Given the description of an element on the screen output the (x, y) to click on. 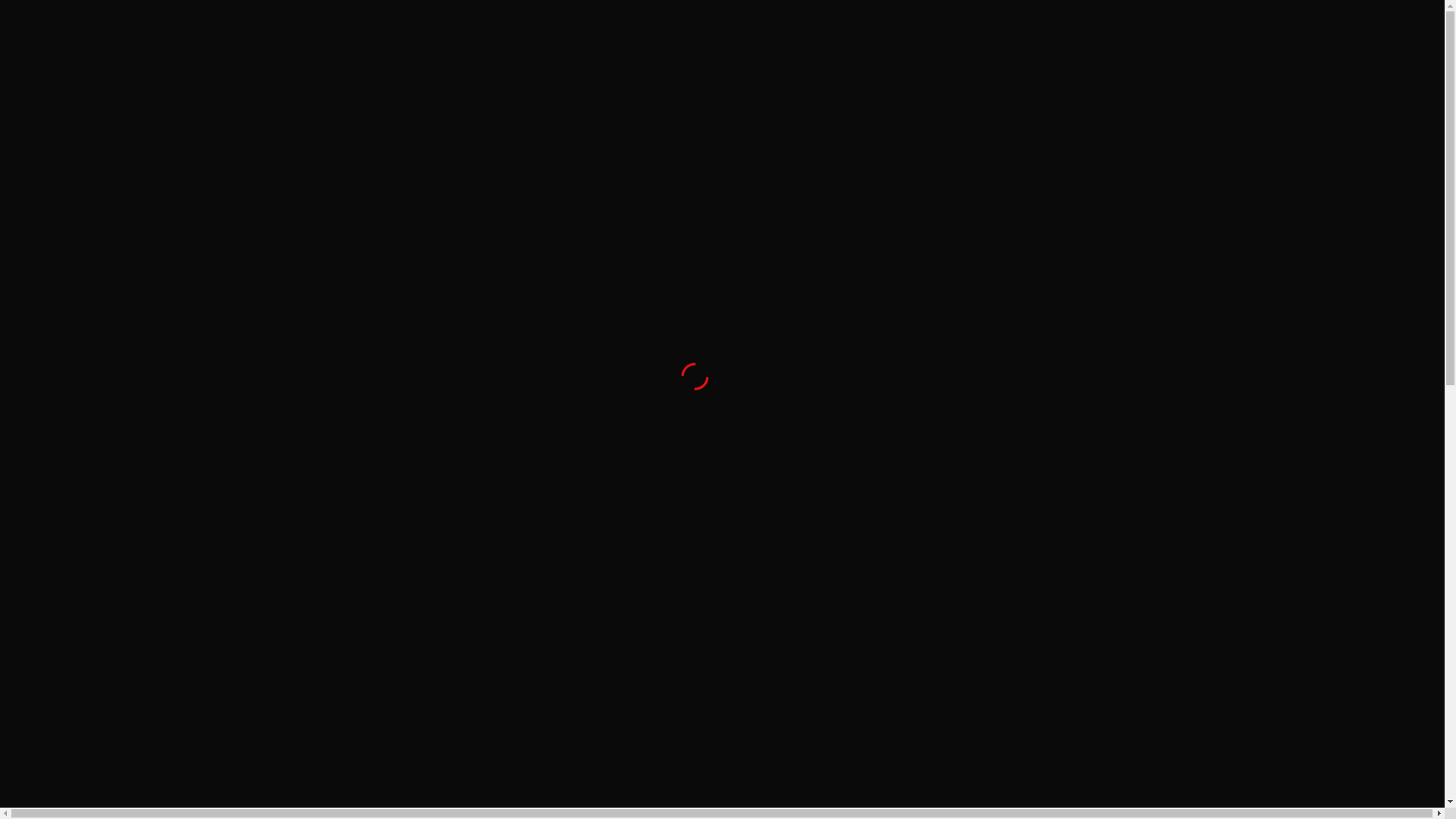
BIO Element type: text (683, 81)
FOTO'S Element type: text (859, 81)
LEES MEER Element type: text (781, 513)
BOOKINGS Element type: text (1058, 81)
AGENDA Element type: text (953, 81)
HOME Element type: text (606, 85)
NIEUWS Element type: text (765, 81)
ENG Element type: text (325, 7)
